Given the description of an element on the screen output the (x, y) to click on. 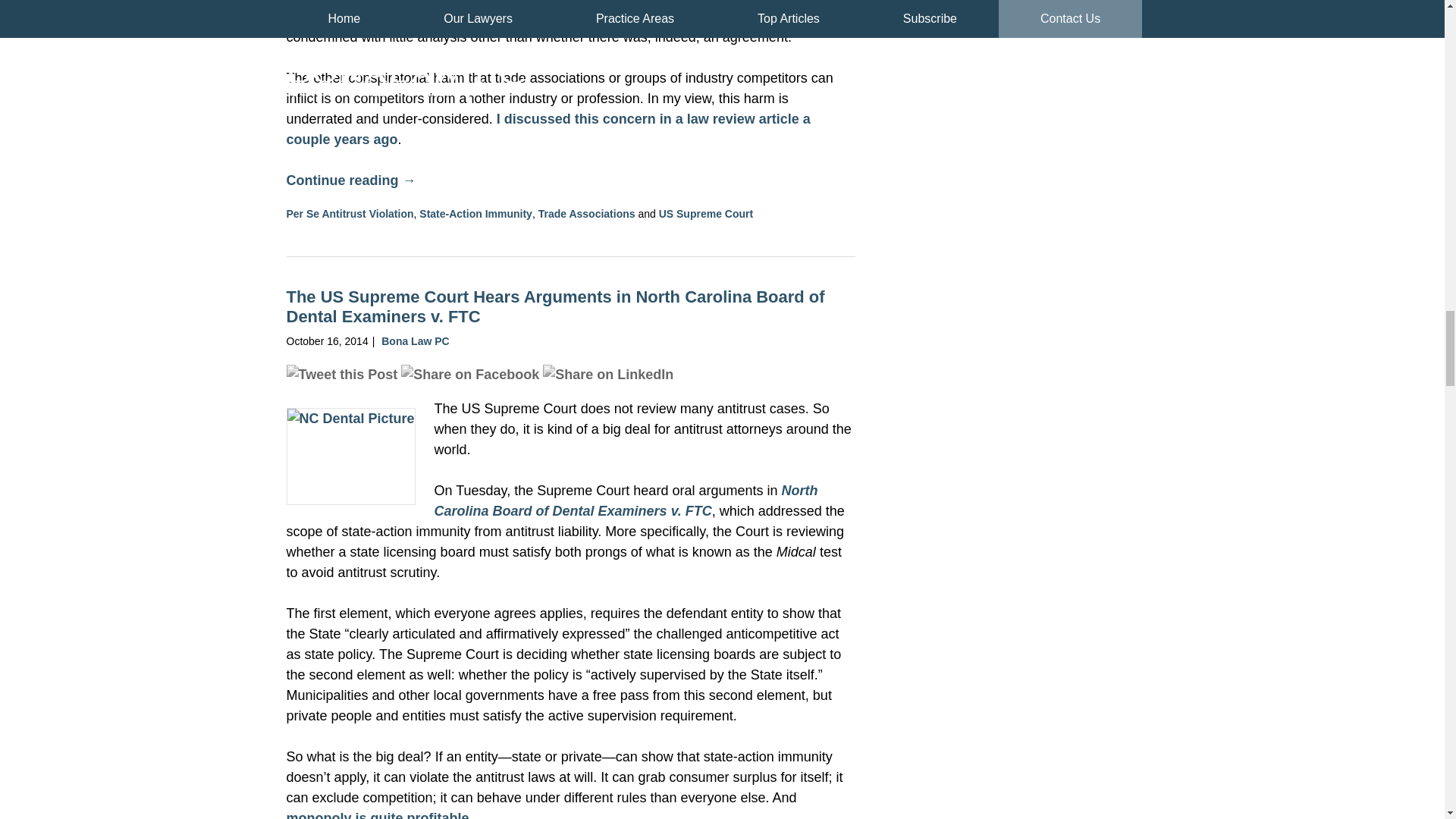
View all posts in Trade Associations (586, 214)
View all posts in Per Se Antitrust Violation (349, 214)
View all posts in State-Action Immunity (475, 214)
View all posts in US Supreme Court (705, 214)
